Given the description of an element on the screen output the (x, y) to click on. 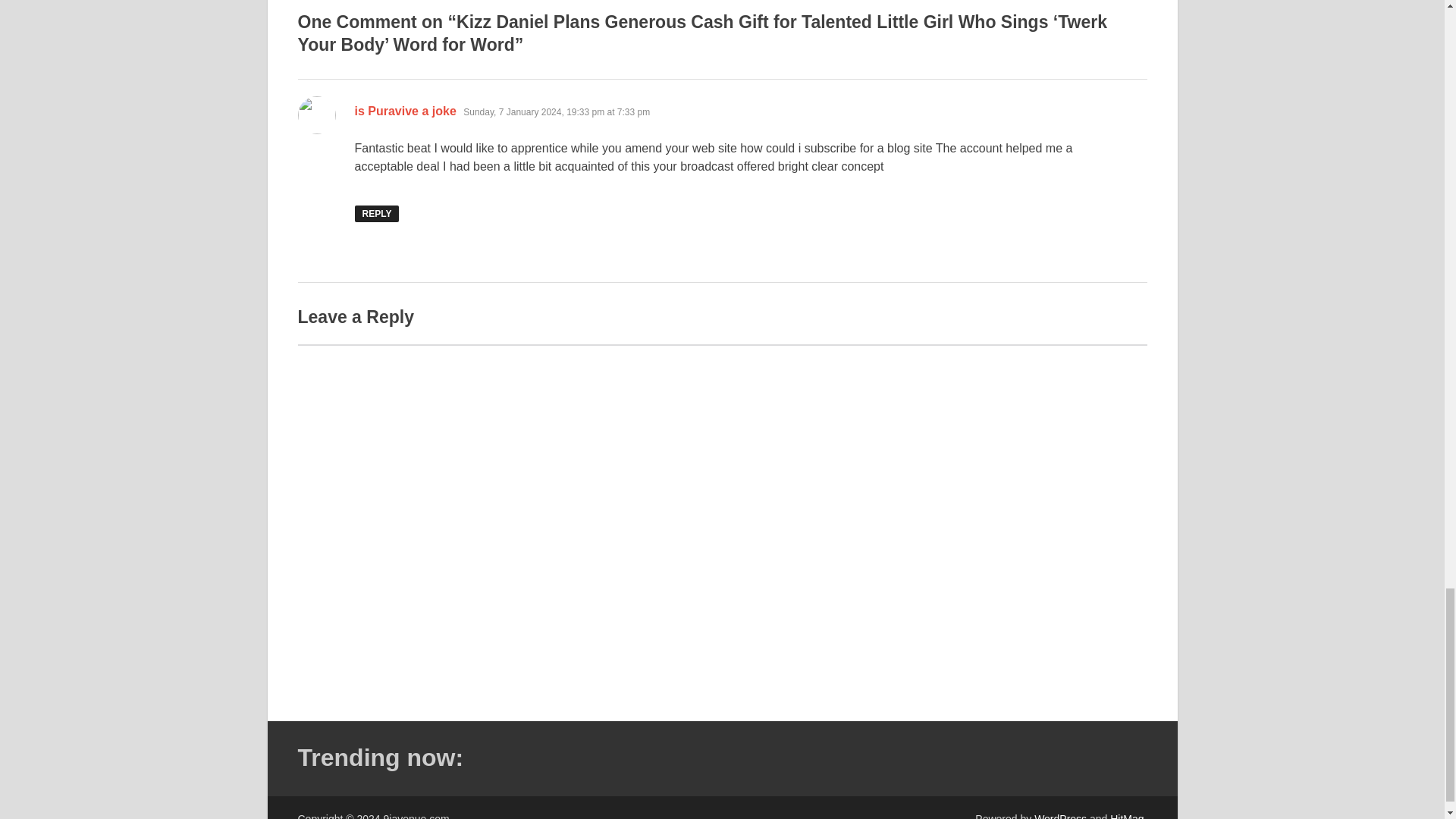
Sunday, 7 January 2024, 19:33 pm at 7:33 pm (556, 112)
REPLY (376, 213)
is Puravive a joke (406, 110)
